Given the description of an element on the screen output the (x, y) to click on. 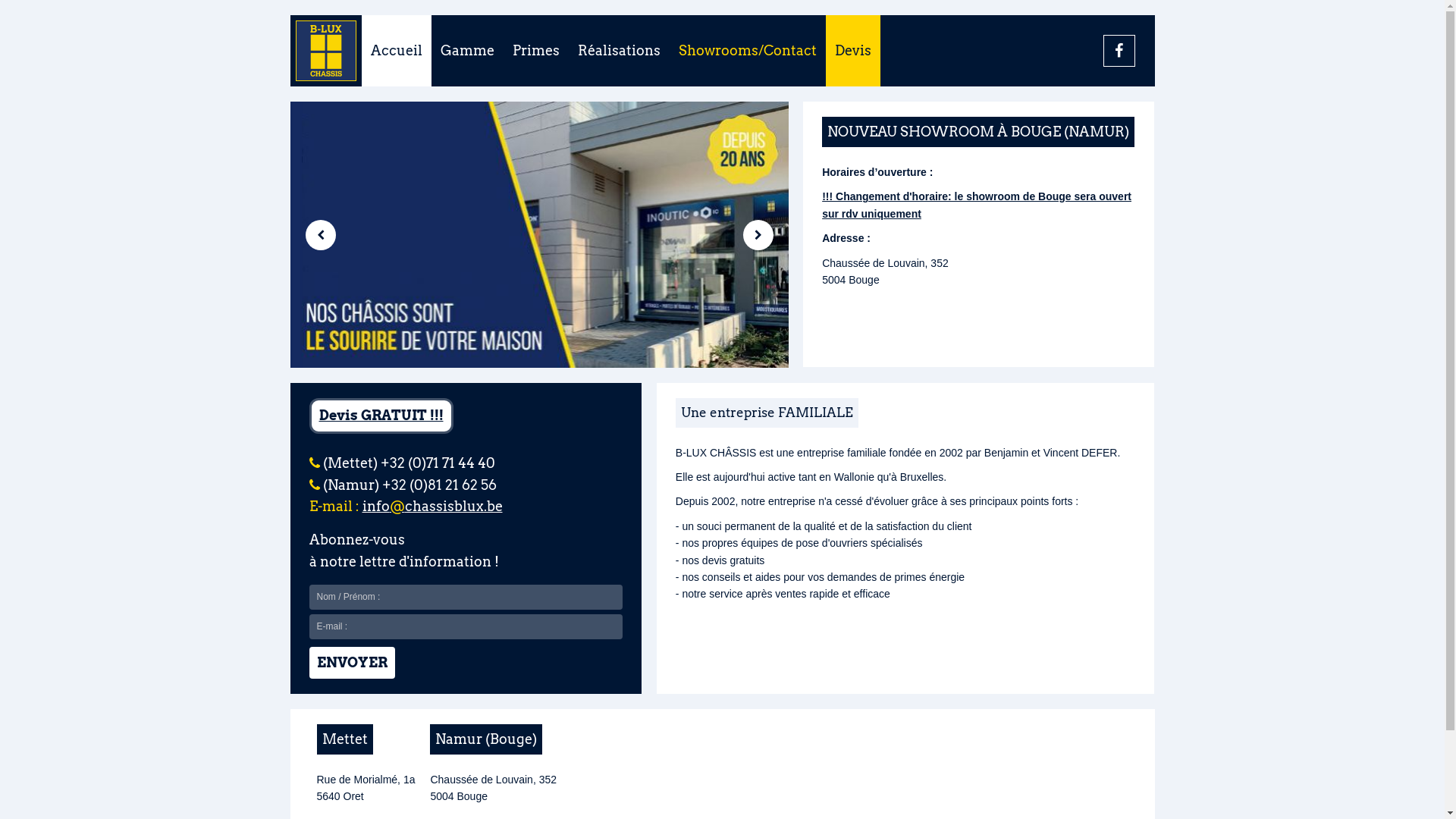
Devis GRATUIT !!! Element type: text (381, 415)
Devis Element type: text (852, 50)
Gamme Element type: text (466, 50)
Primes Element type: text (535, 50)
Accueil Element type: text (395, 50)
Envoyer Element type: text (352, 662)
Showrooms/Contact Element type: text (746, 50)
info@chassisblux.be Element type: text (432, 506)
